Given the description of an element on the screen output the (x, y) to click on. 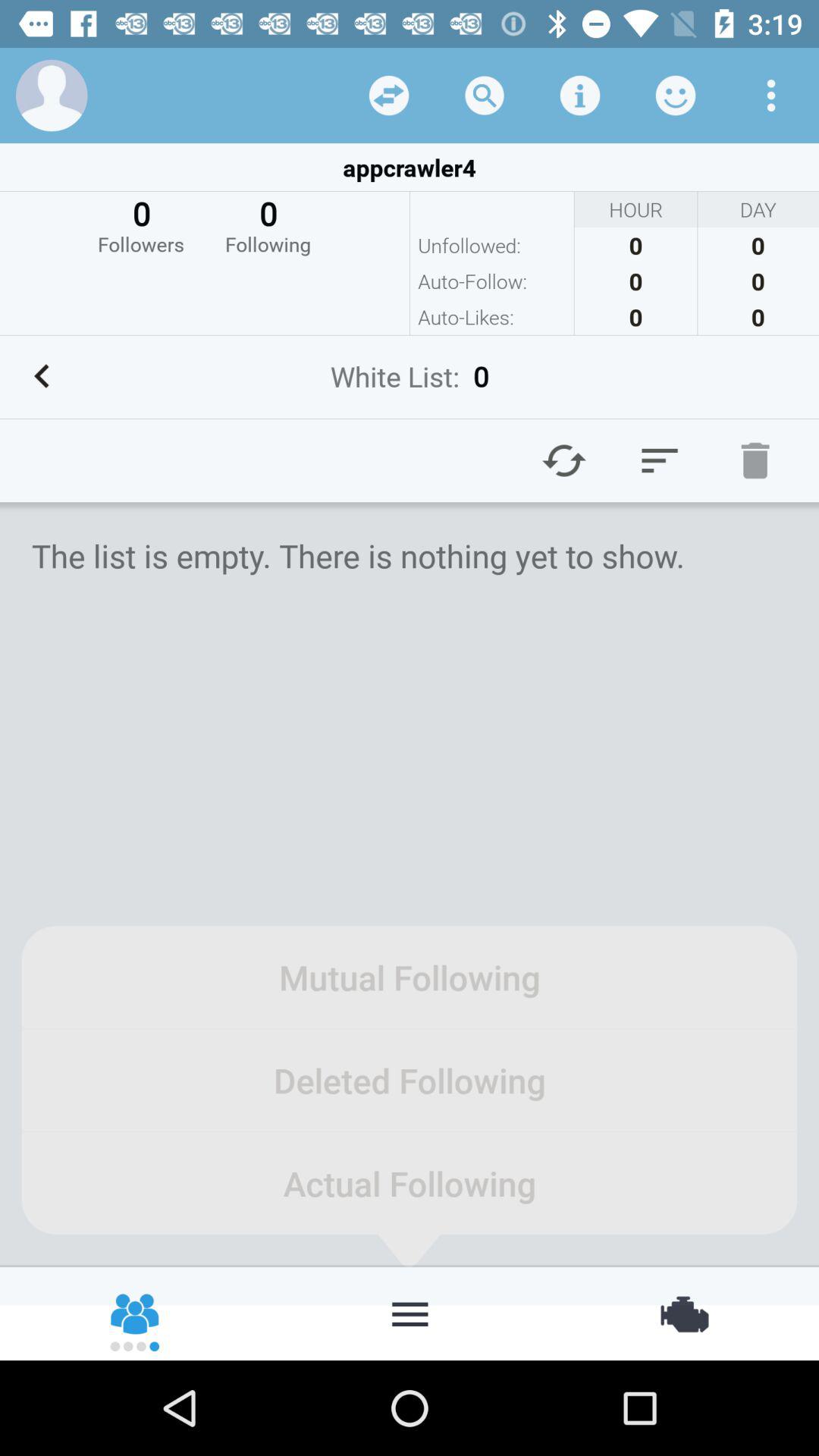
go to back (41, 376)
